Given the description of an element on the screen output the (x, y) to click on. 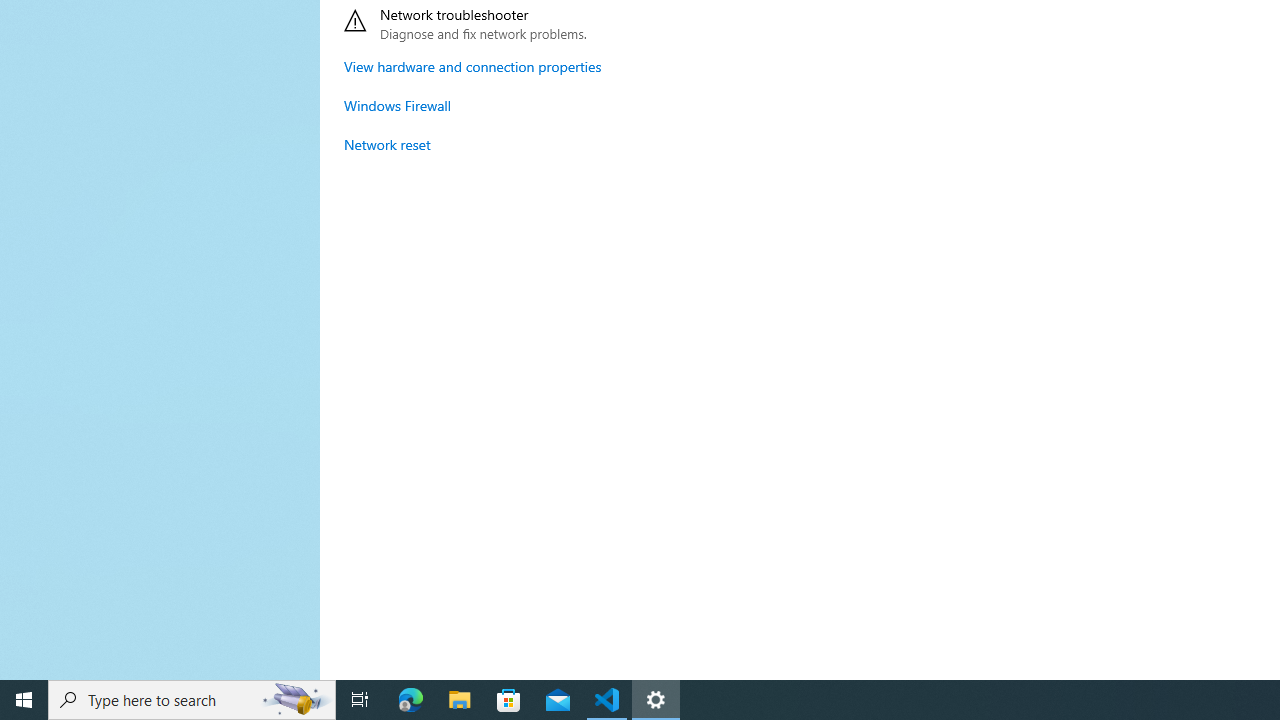
View hardware and connection properties (472, 66)
Network reset (387, 144)
Windows Firewall (397, 105)
